Given the description of an element on the screen output the (x, y) to click on. 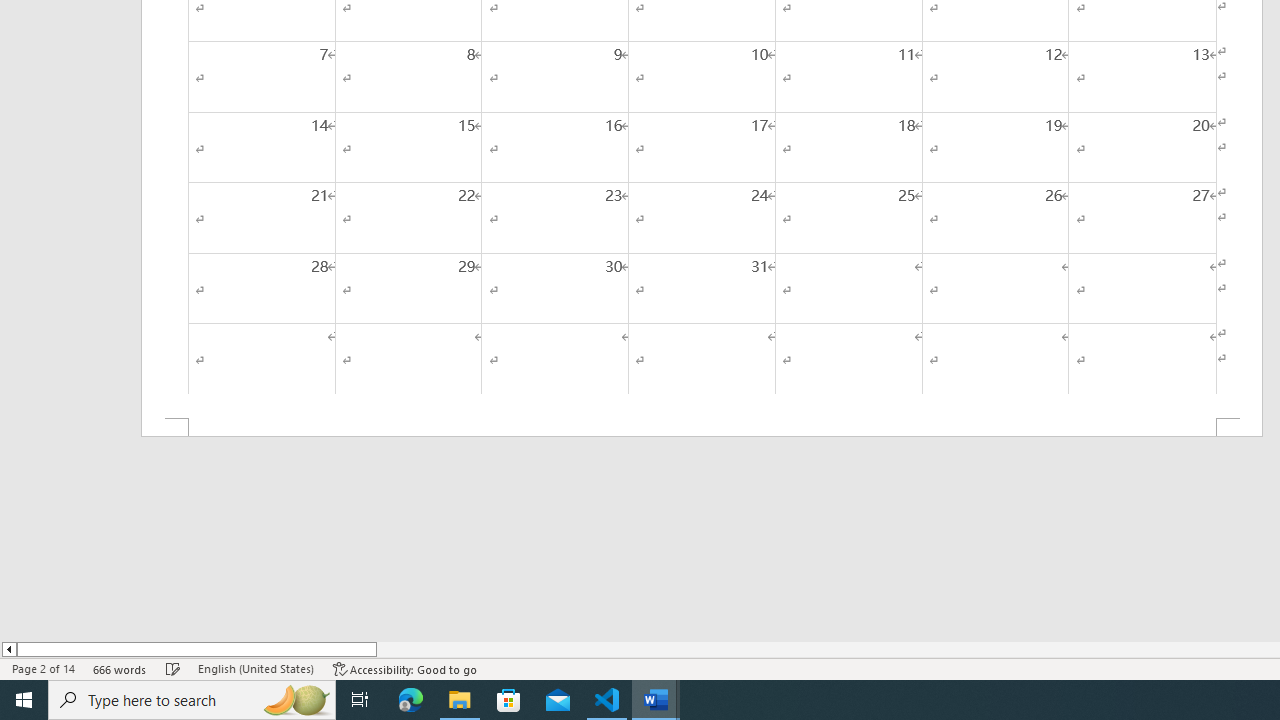
Footer -Section 1- (701, 427)
Word Count 666 words (119, 668)
Column left (8, 649)
Page Number Page 2 of 14 (43, 668)
Accessibility Checker Accessibility: Good to go (405, 668)
Spelling and Grammar Check Checking (173, 668)
